Given the description of an element on the screen output the (x, y) to click on. 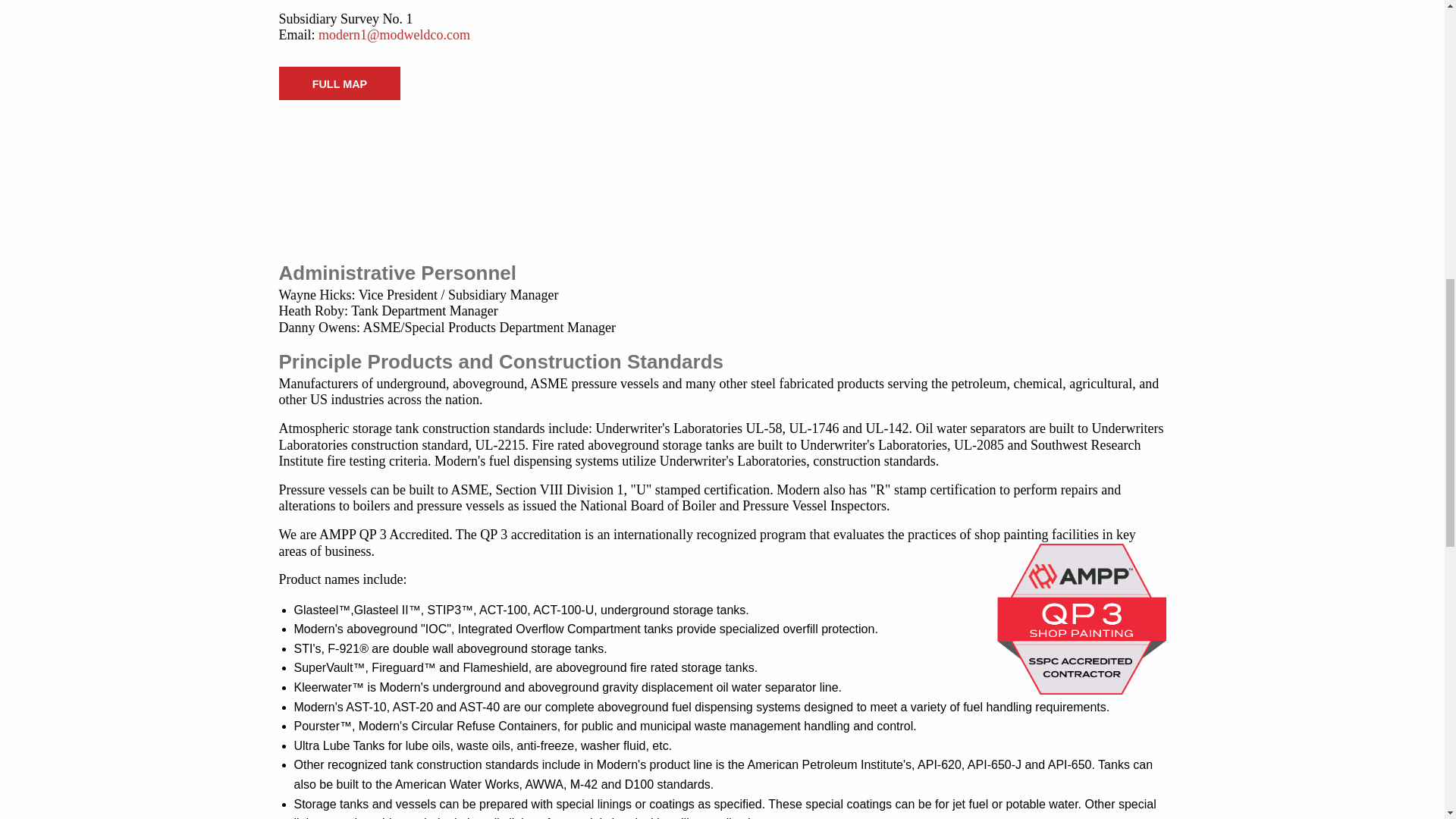
FULL MAP (340, 82)
